Given the description of an element on the screen output the (x, y) to click on. 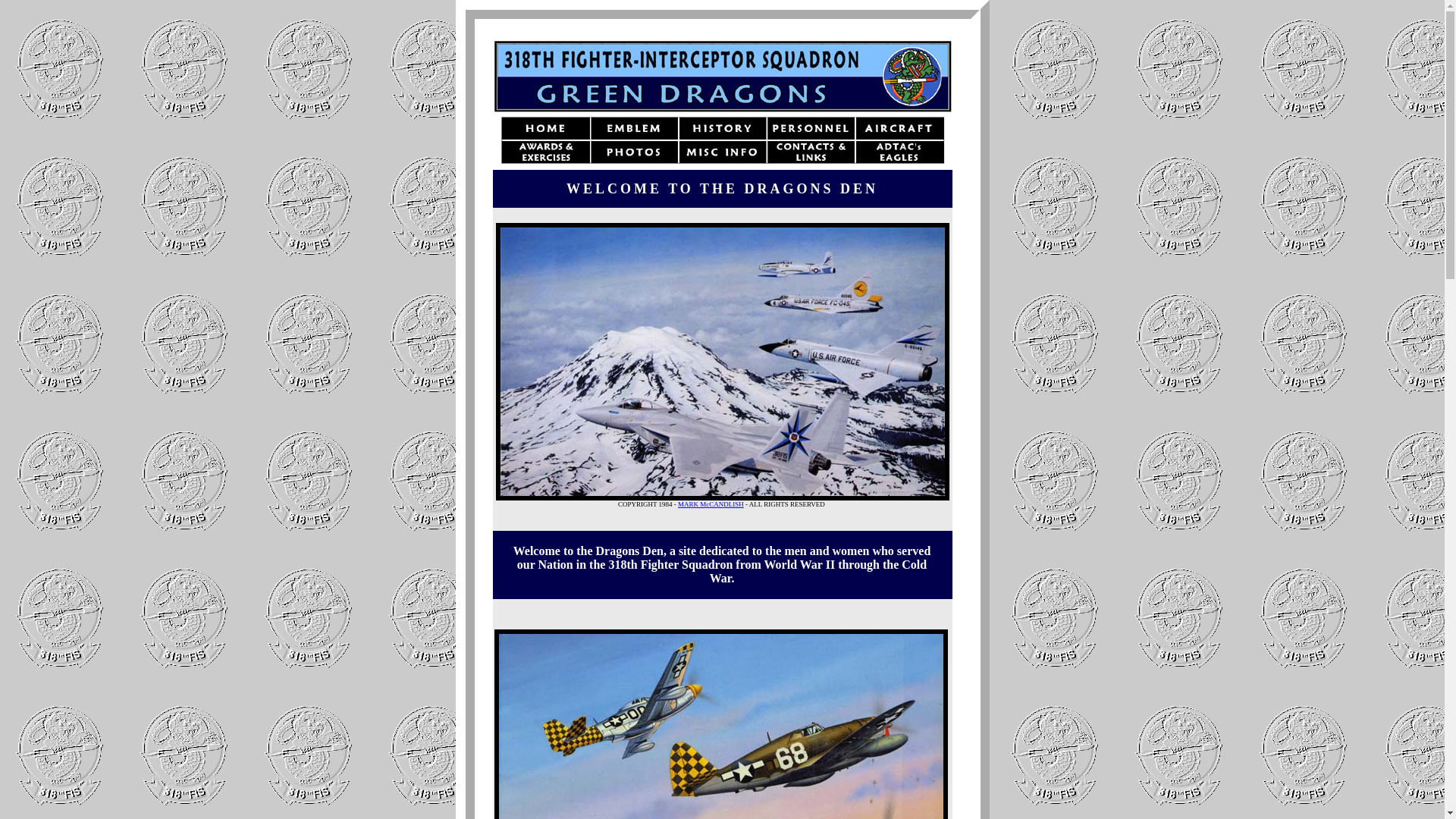
MARK McCANDLISH Element type: text (710, 504)
